Given the description of an element on the screen output the (x, y) to click on. 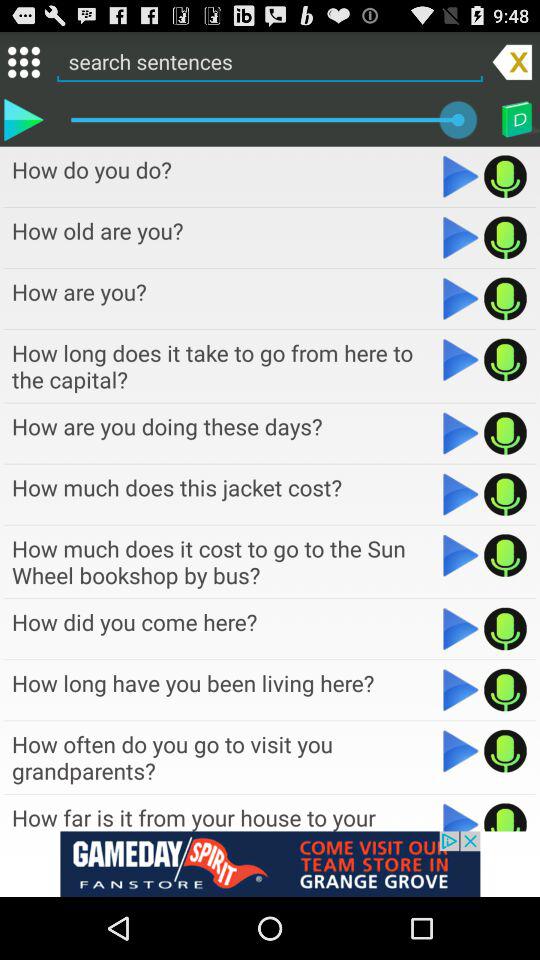
play sound (505, 689)
